Given the description of an element on the screen output the (x, y) to click on. 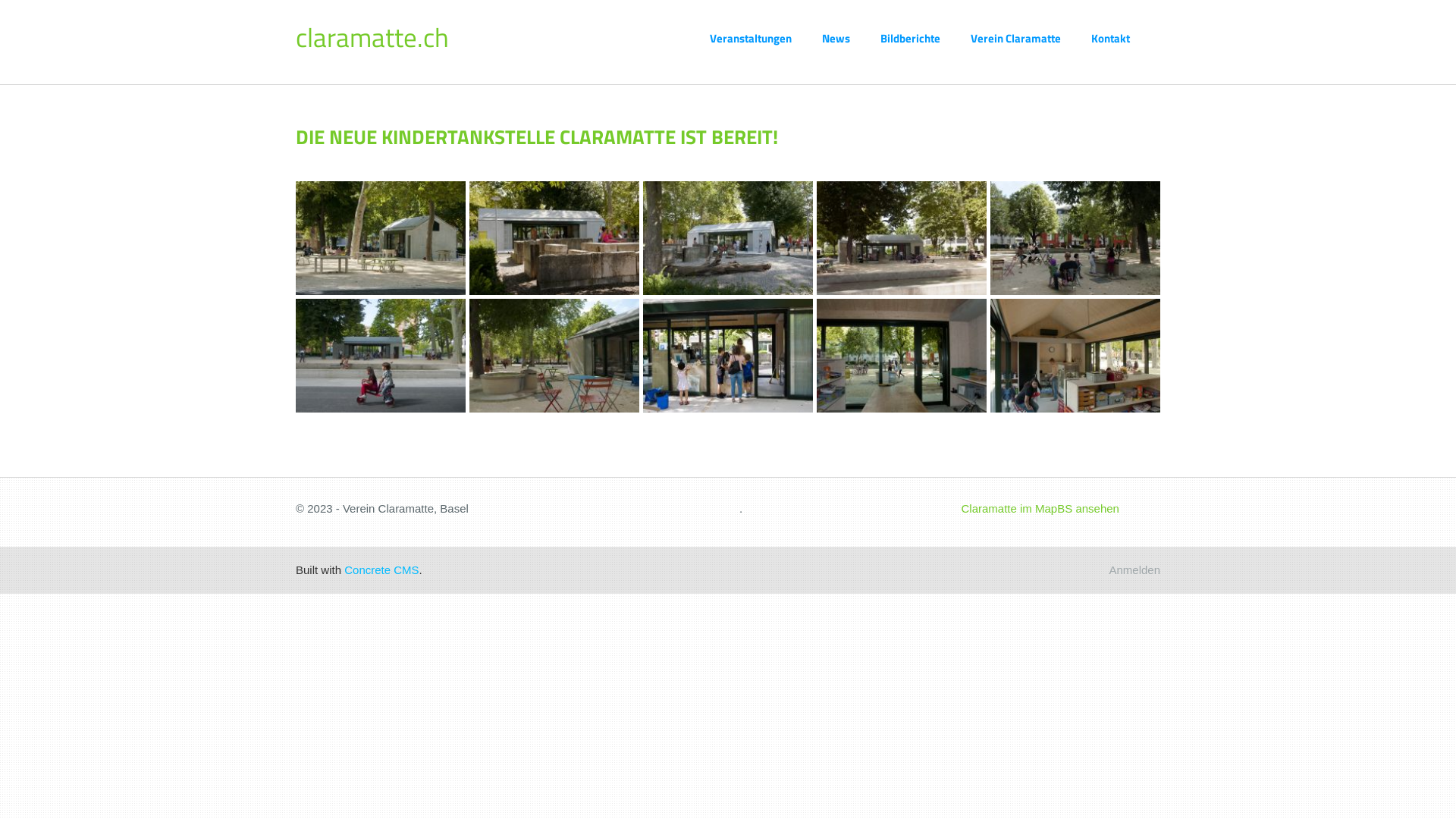
Claramatte im MapBS ansehen Element type: text (1040, 508)
claramatte.ch Element type: text (371, 36)
Veranstaltungen Element type: text (765, 38)
Verein Claramatte Element type: text (1030, 38)
Bildberichte Element type: text (925, 38)
Concrete CMS Element type: text (381, 569)
Anmelden Element type: text (1134, 569)
Kontakt Element type: text (1125, 38)
News Element type: text (851, 38)
